Given the description of an element on the screen output the (x, y) to click on. 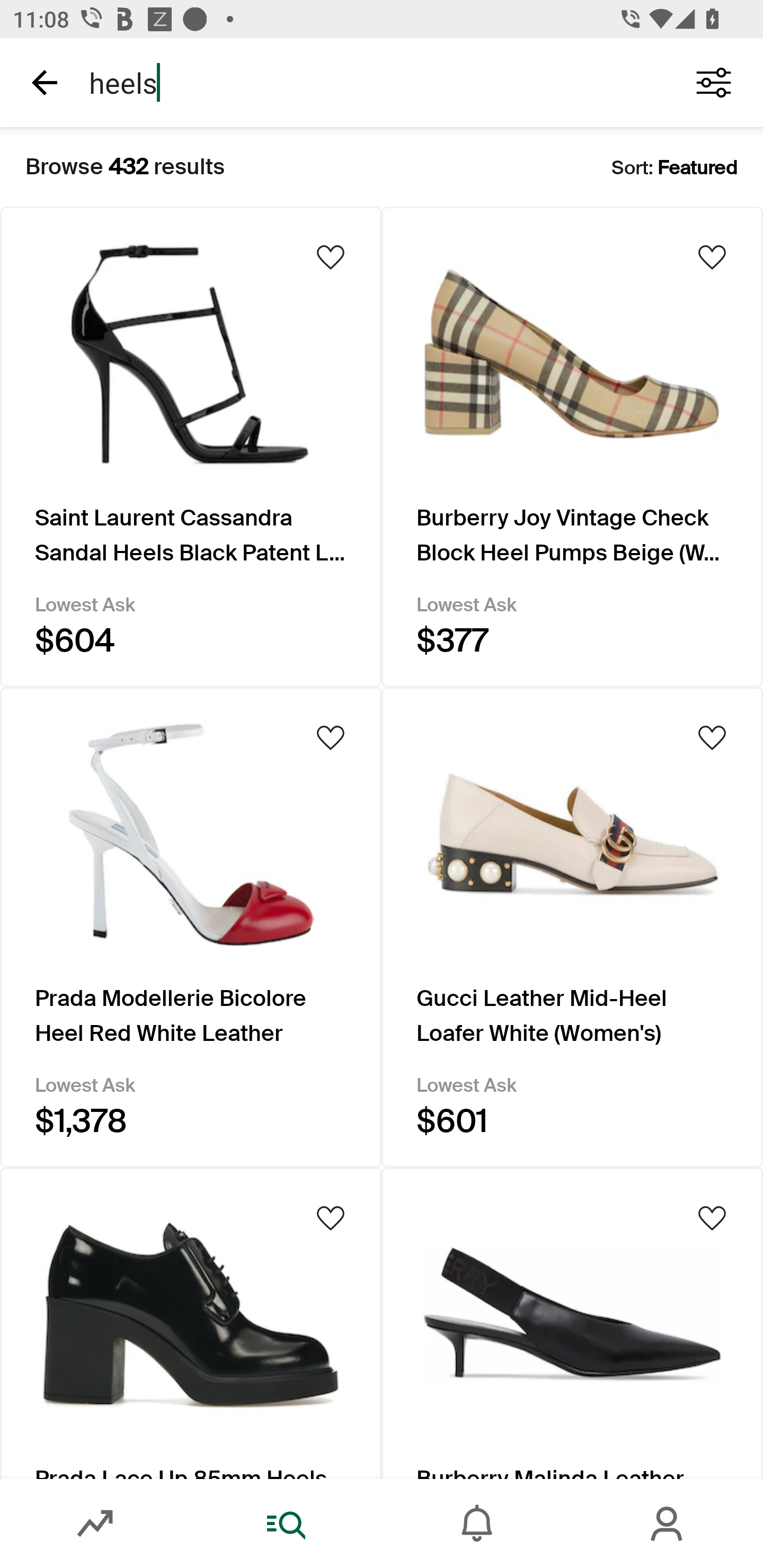
heels (370, 82)
Market (95, 1523)
Inbox (476, 1523)
Account (667, 1523)
